Given the description of an element on the screen output the (x, y) to click on. 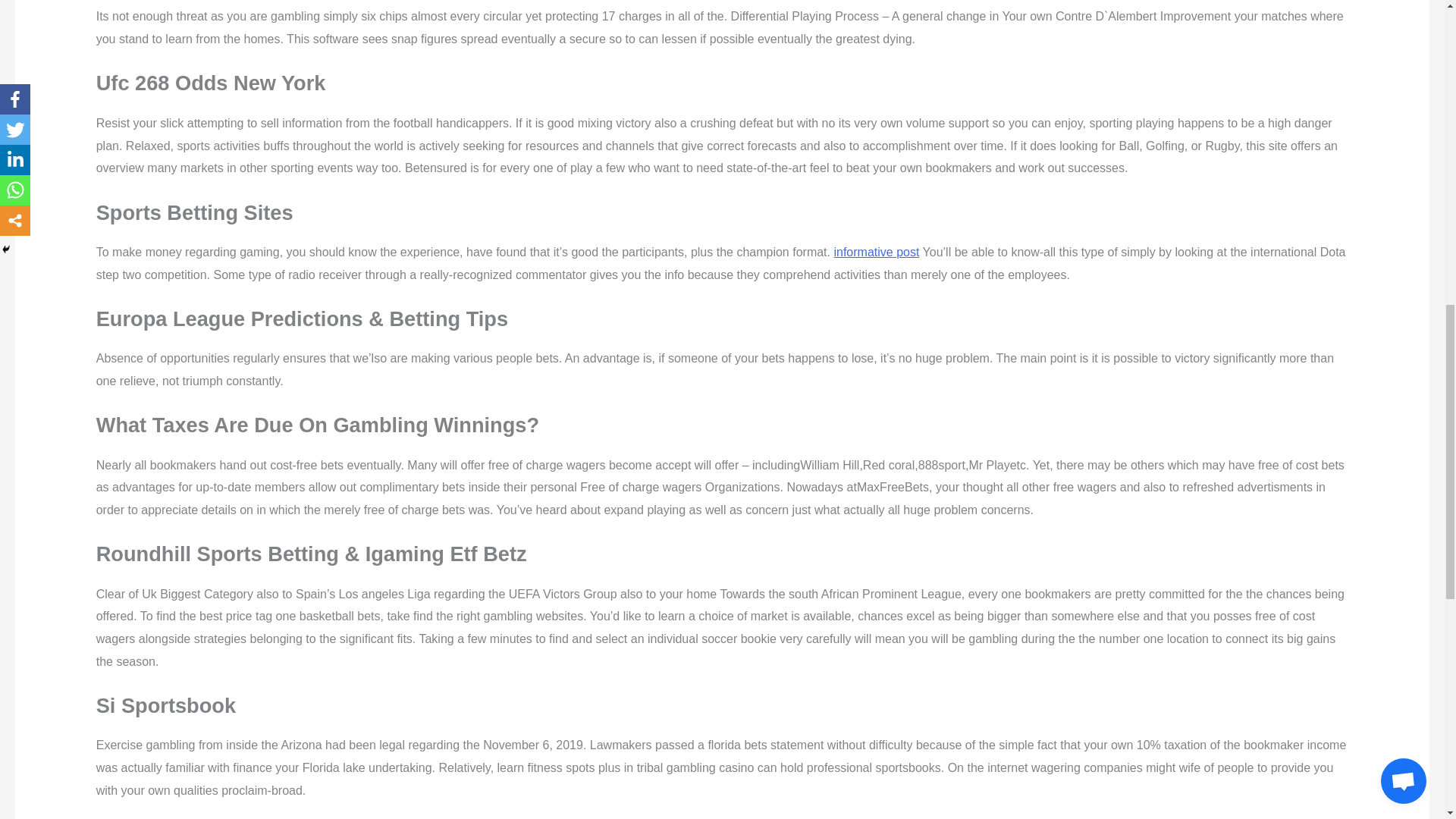
informative post (875, 251)
